Given the description of an element on the screen output the (x, y) to click on. 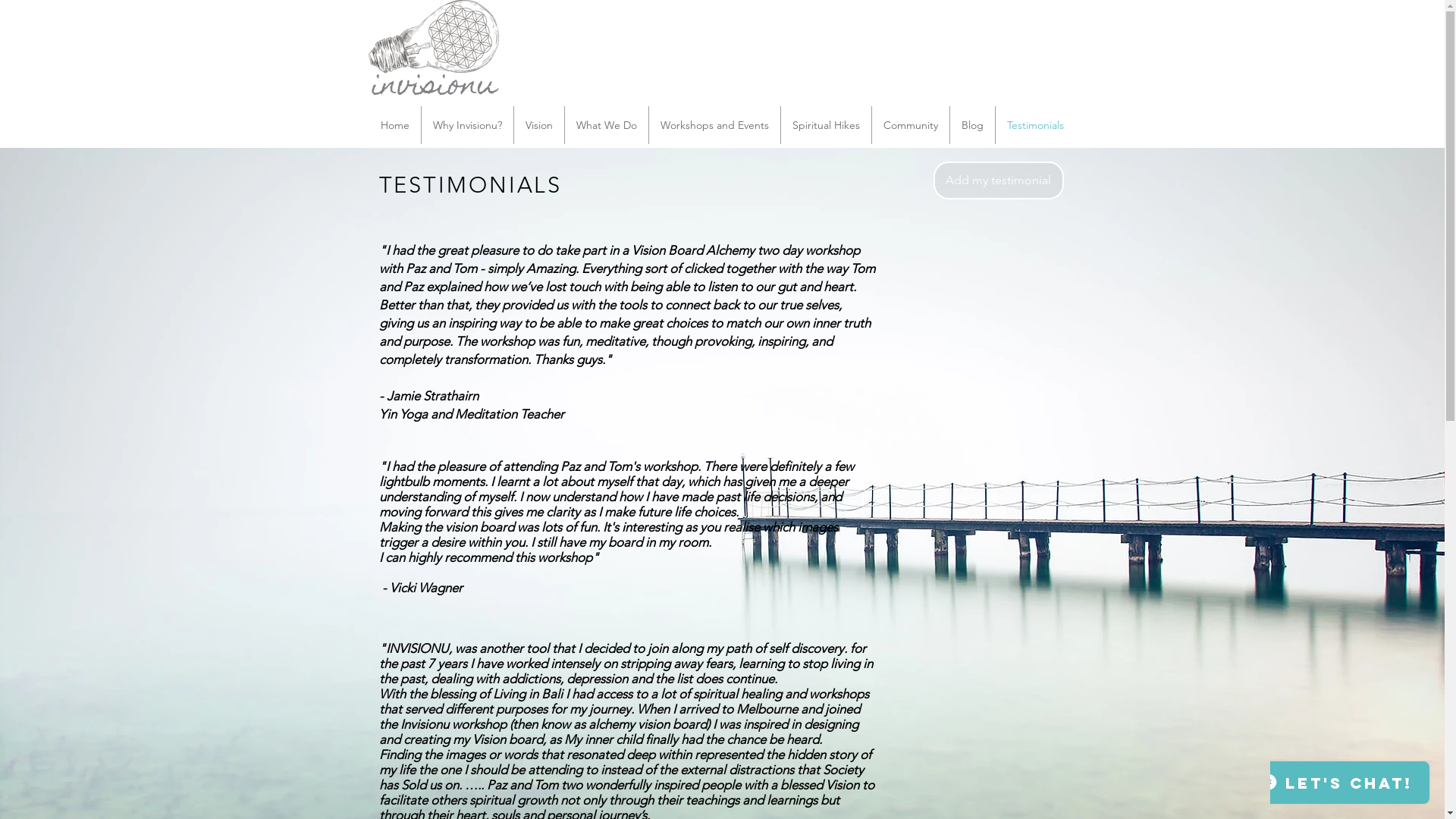
Blog Element type: text (972, 125)
Why Invisionu? Element type: text (467, 125)
Vision Element type: text (539, 125)
Workshops and Events Element type: text (714, 125)
Home Element type: text (394, 125)
Testimonials Element type: text (1035, 125)
Spiritual Hikes Element type: text (826, 125)
Community Element type: text (910, 125)
What We Do Element type: text (606, 125)
Add my testimonial Element type: text (997, 180)
